Given the description of an element on the screen output the (x, y) to click on. 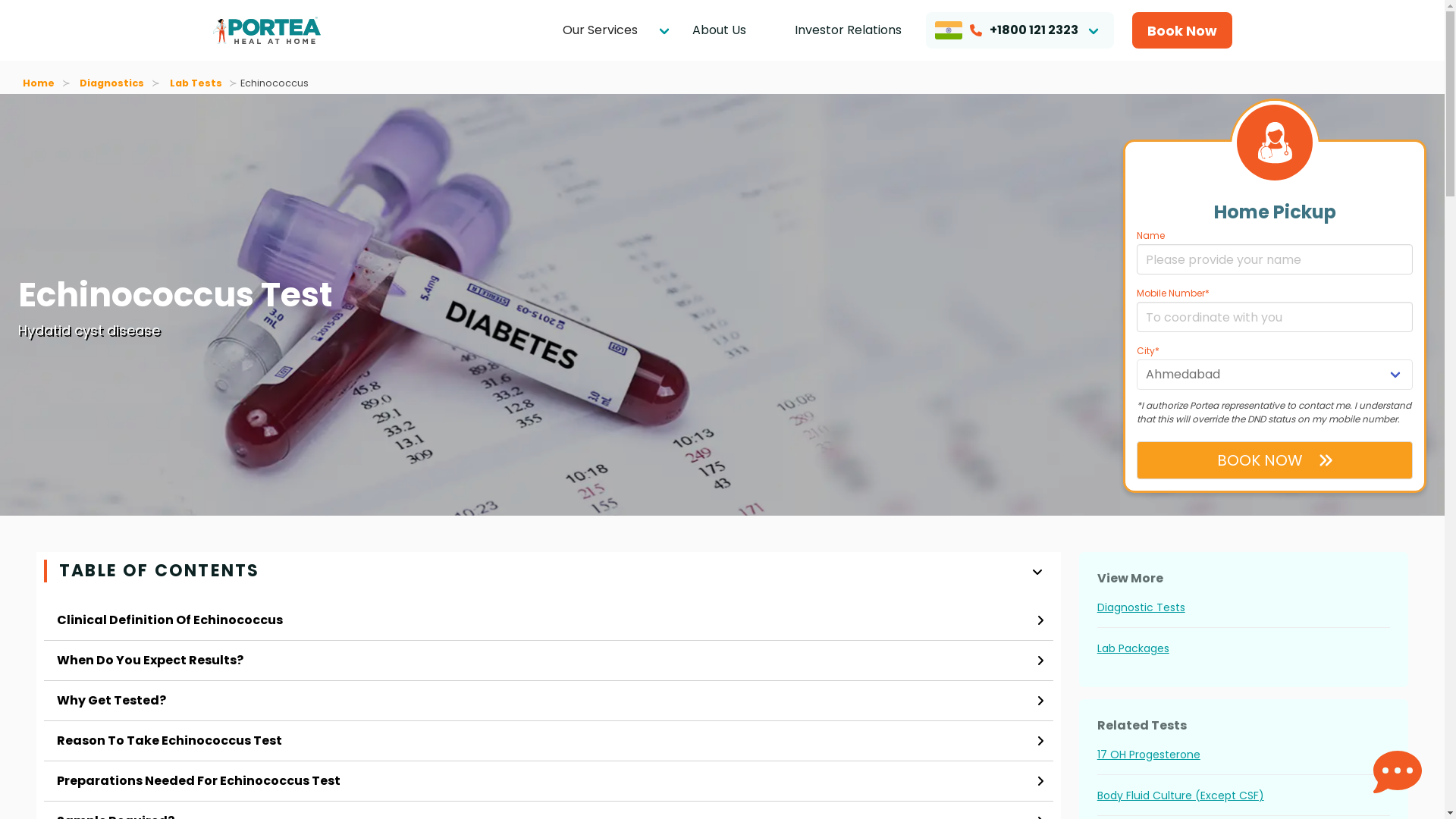
Home (42, 83)
Lab Tests (194, 83)
Why Get Tested? (547, 700)
Preparations Needed For Echinococcus Test (547, 780)
Sample Required? (547, 810)
When Do You Expect Results? (547, 660)
BOOK NOW (1274, 460)
Investor Relations (848, 29)
Book Now (1181, 30)
About Us (718, 29)
